Given the description of an element on the screen output the (x, y) to click on. 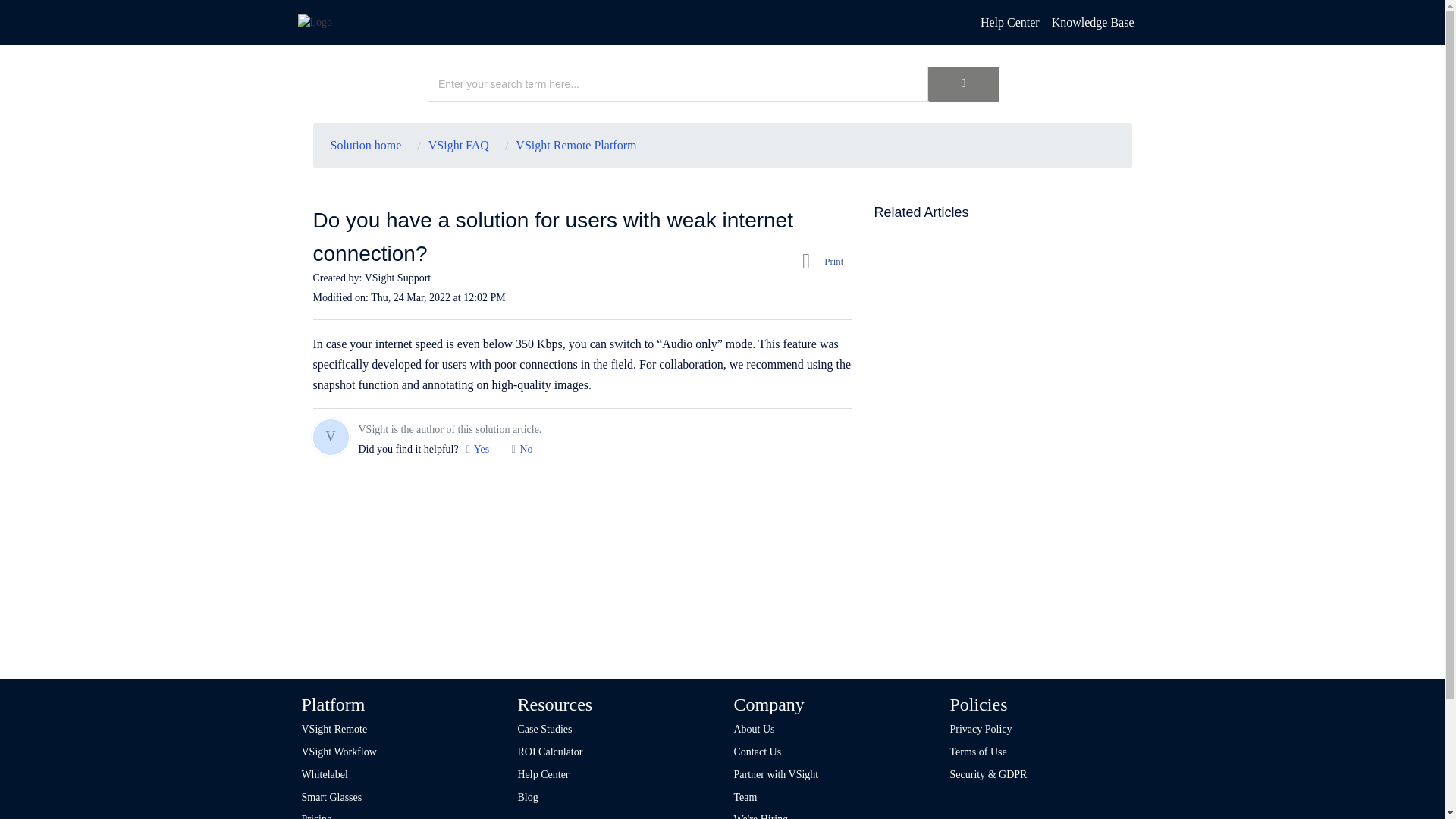
Contact Us (757, 751)
ROI Calculator (549, 751)
About Us (753, 728)
Print this Article (826, 261)
Blog (538, 797)
VSight FAQ (453, 144)
Knowledge Base (1092, 22)
Team (756, 797)
Pricing (316, 816)
Solution home (365, 144)
